Given the description of an element on the screen output the (x, y) to click on. 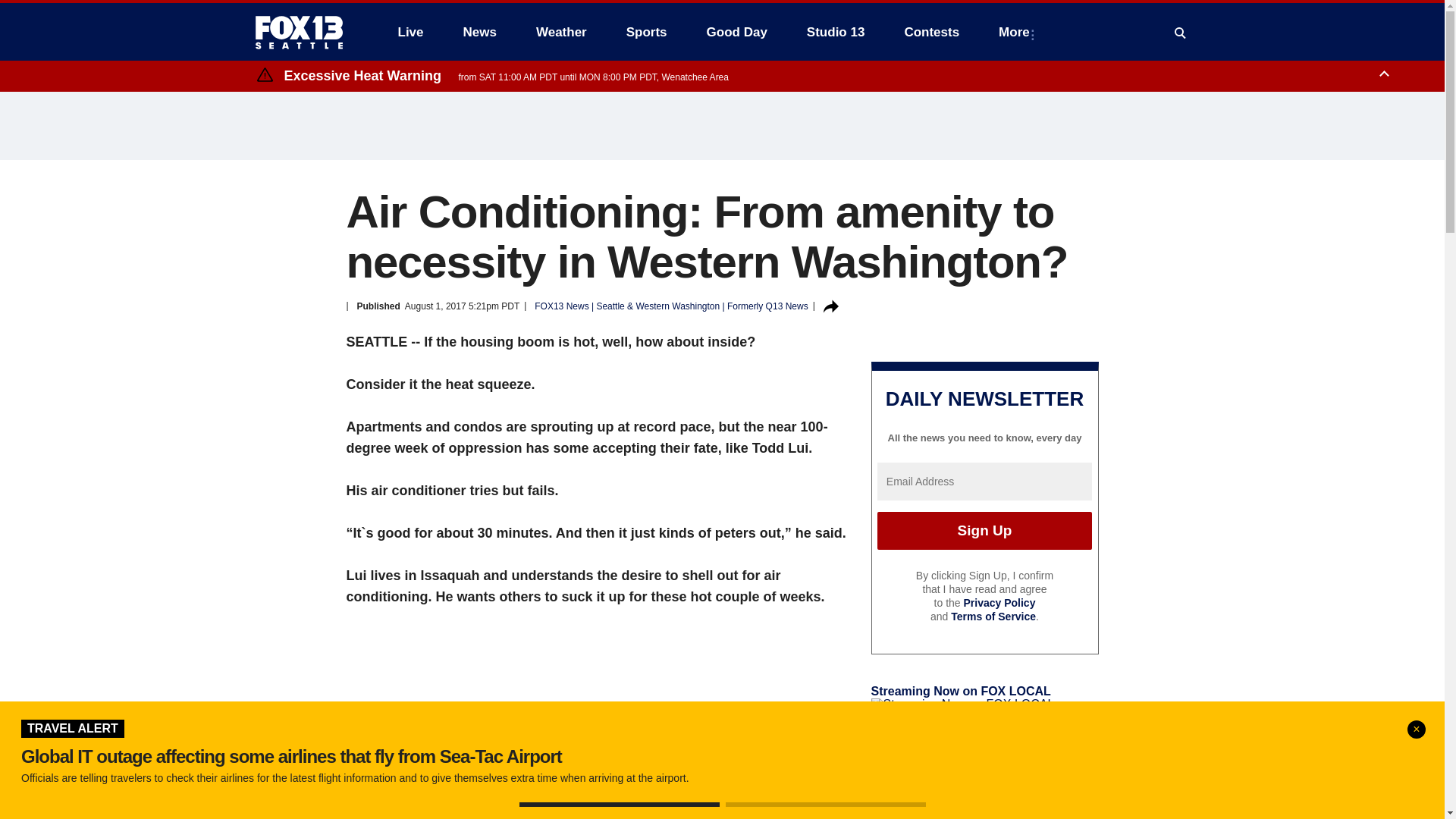
Studio 13 (835, 32)
More (1017, 32)
Good Day (736, 32)
Sports (646, 32)
Weather (561, 32)
Live (410, 32)
Sign Up (984, 530)
News (479, 32)
Contests (931, 32)
